Given the description of an element on the screen output the (x, y) to click on. 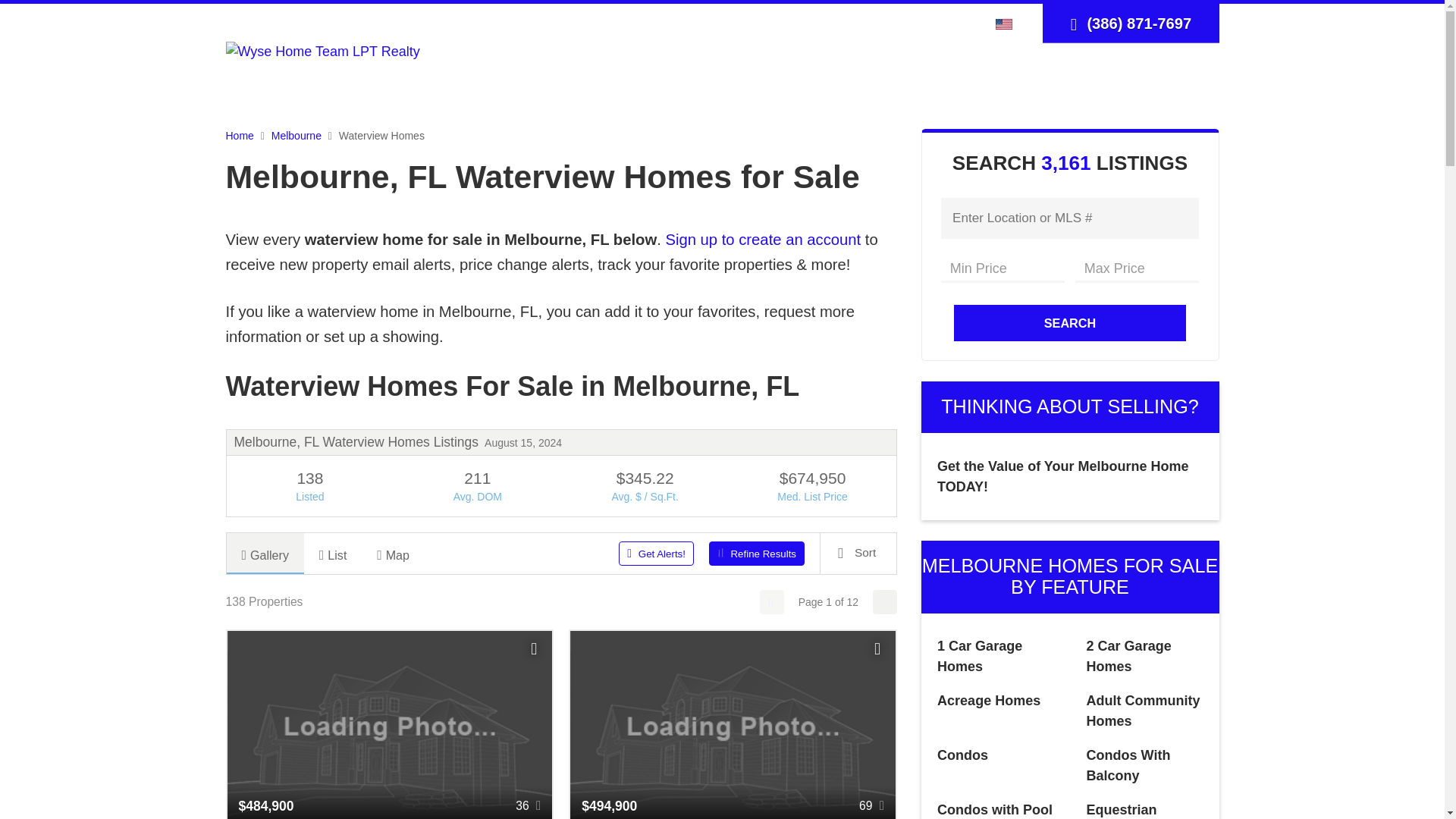
Home Page (322, 50)
SEARCH (635, 77)
Login (872, 23)
Register (920, 23)
BUYERS (720, 77)
SELLERS (807, 77)
Select Language (1008, 23)
